Given the description of an element on the screen output the (x, y) to click on. 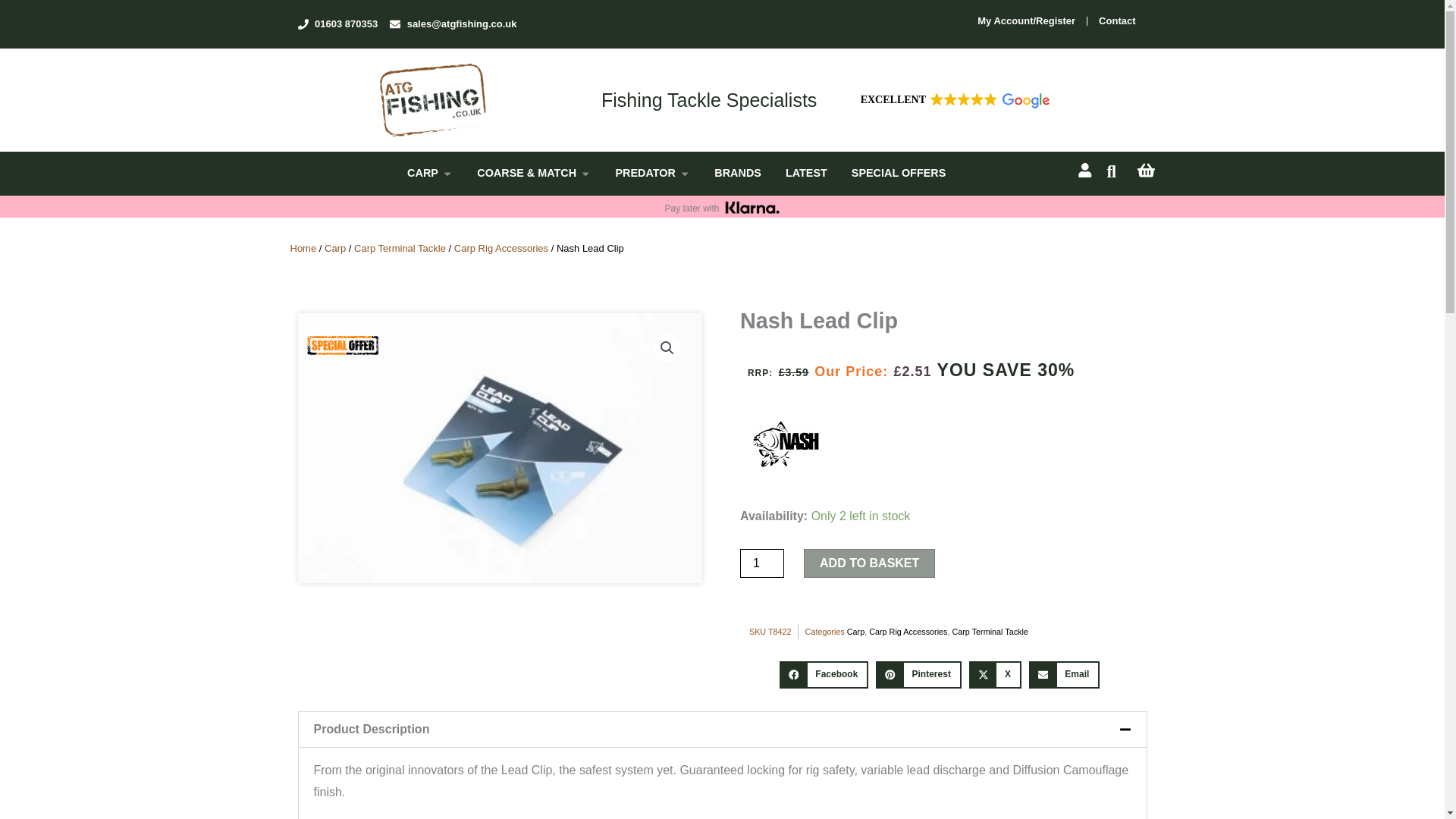
LATEST (806, 173)
BRANDS (737, 173)
CARP (422, 173)
PREDATOR (645, 173)
01603 870353 (337, 24)
View brand (786, 441)
s-l1000201.jpg (499, 447)
Contact (1117, 21)
klarnalogo3 (751, 207)
SPECIAL OFFERS (897, 173)
1 (761, 563)
EXCELLENT (953, 99)
